Given the description of an element on the screen output the (x, y) to click on. 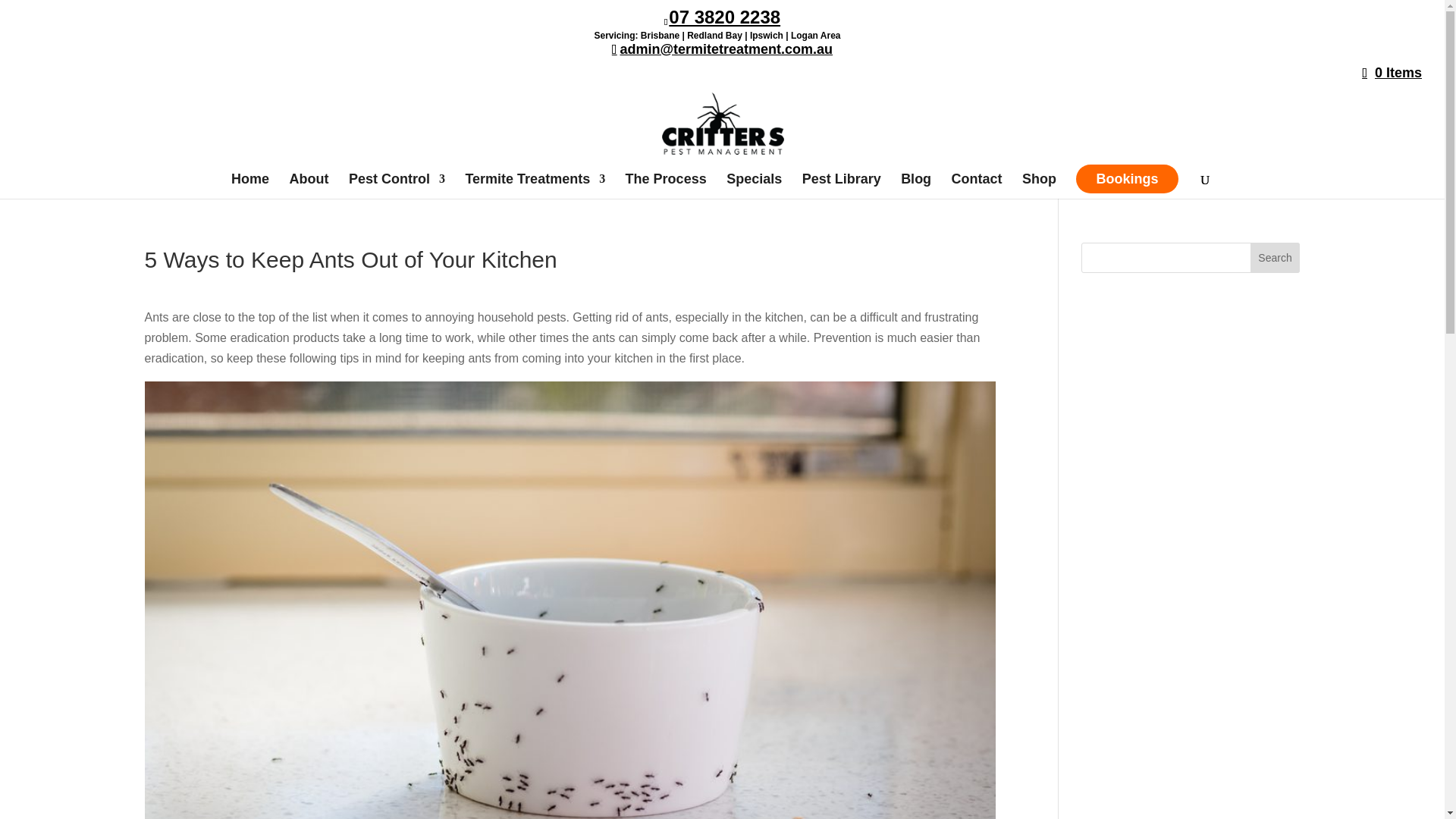
The Process (666, 186)
Home (250, 186)
About (309, 186)
Search (1275, 257)
Specials (753, 186)
0 Items (1391, 72)
Contact (977, 186)
Blog (916, 186)
07 3820 2238 (724, 15)
Pest Control (397, 186)
Pest Library (841, 186)
Shop (1039, 186)
Bookings (1126, 178)
Termite Treatments (534, 186)
